Given the description of an element on the screen output the (x, y) to click on. 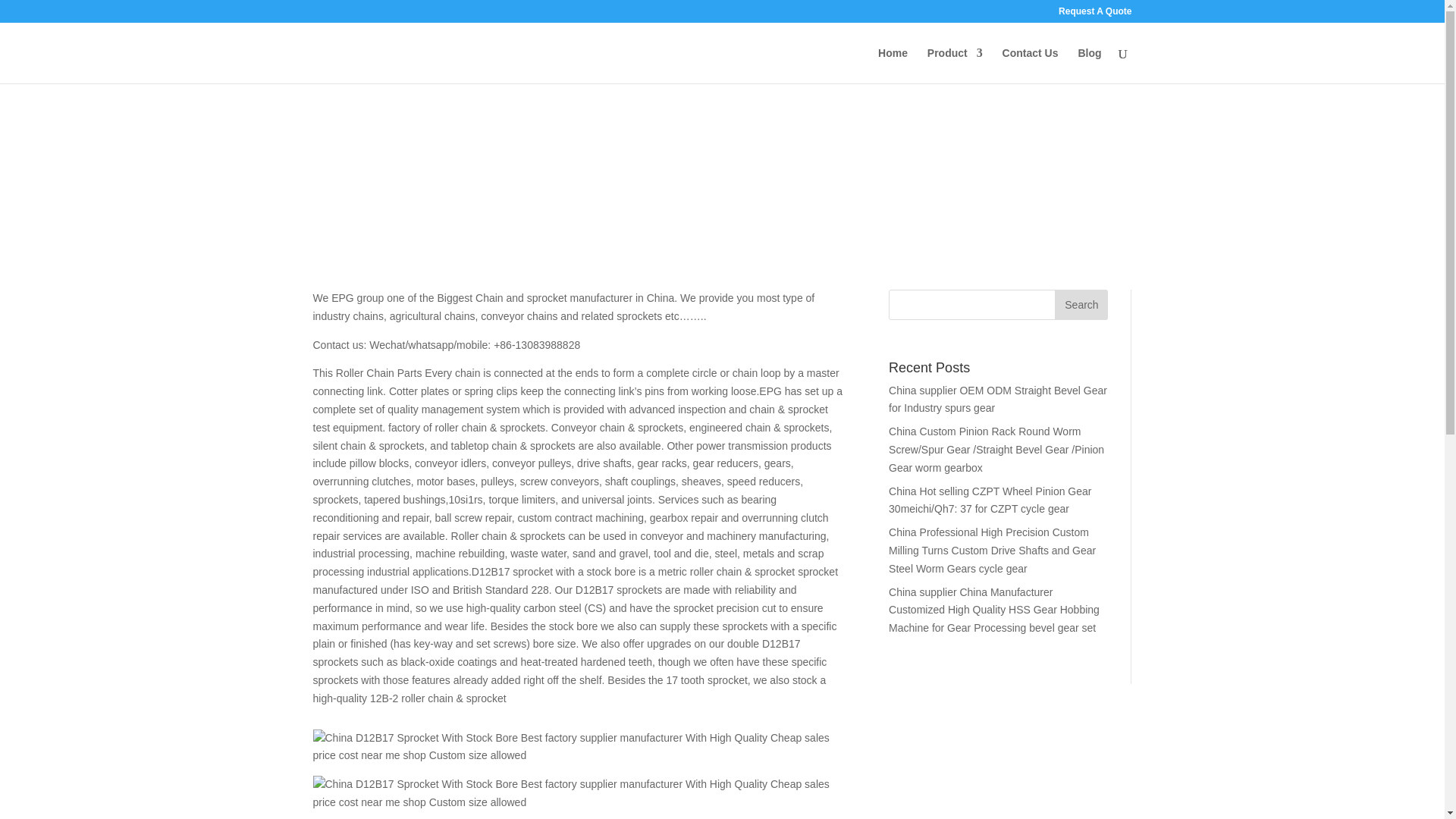
Request A Quote (1094, 14)
Product (954, 65)
Search (1081, 304)
Search (1081, 304)
Contact Us (1030, 65)
